Given the description of an element on the screen output the (x, y) to click on. 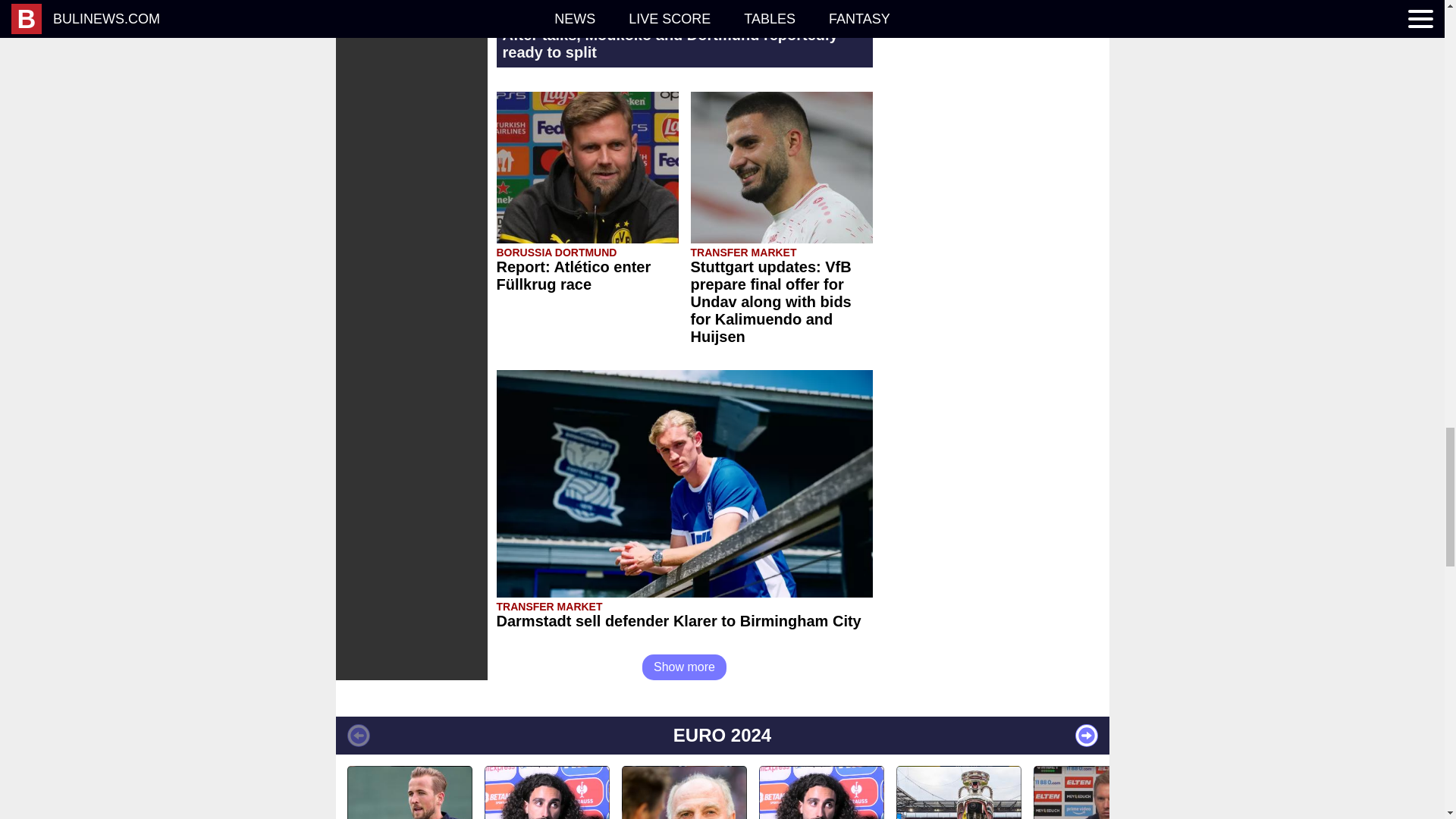
EURO 2024 (721, 735)
